Given the description of an element on the screen output the (x, y) to click on. 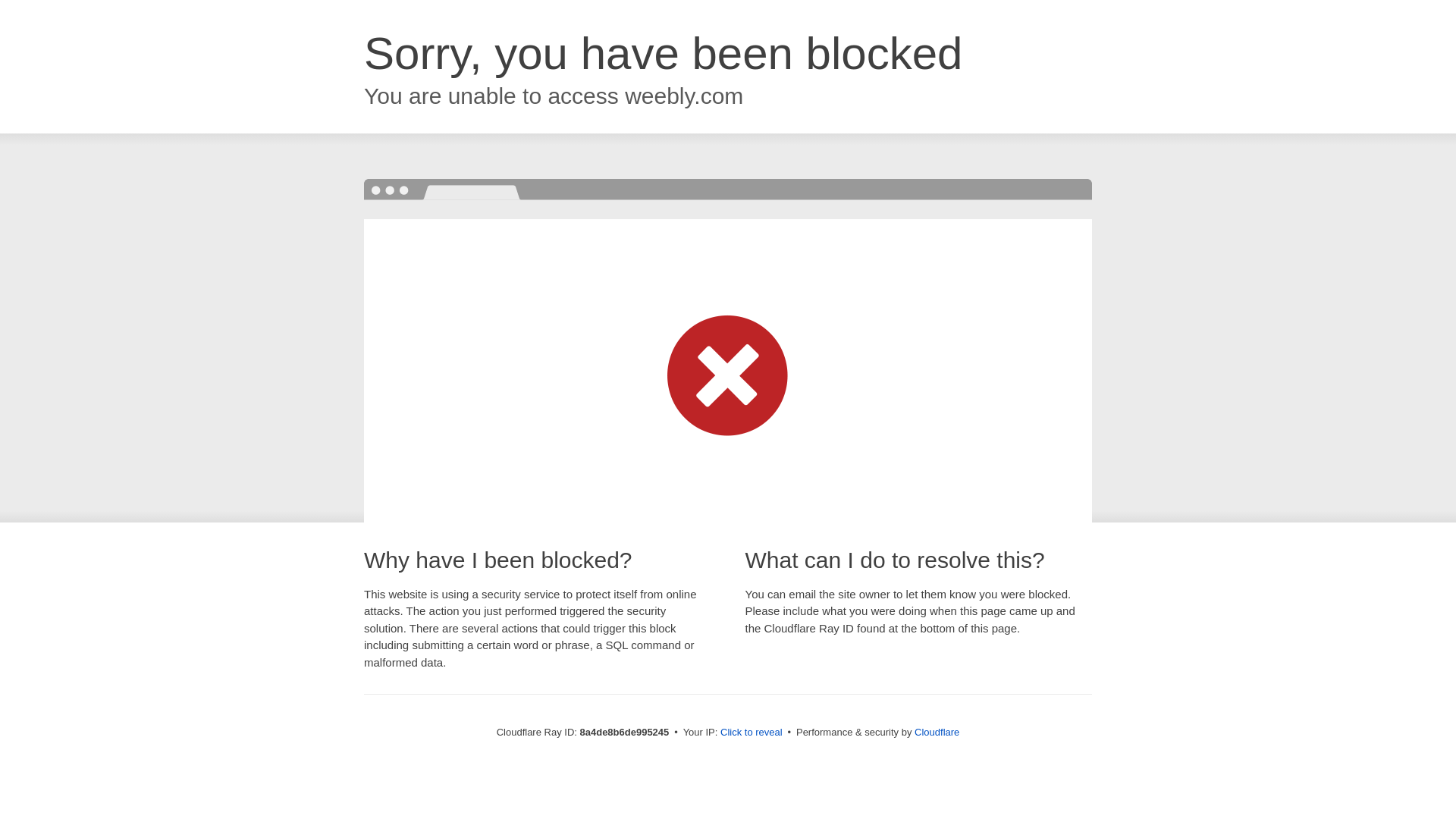
Click to reveal (751, 732)
Cloudflare (936, 731)
